Given the description of an element on the screen output the (x, y) to click on. 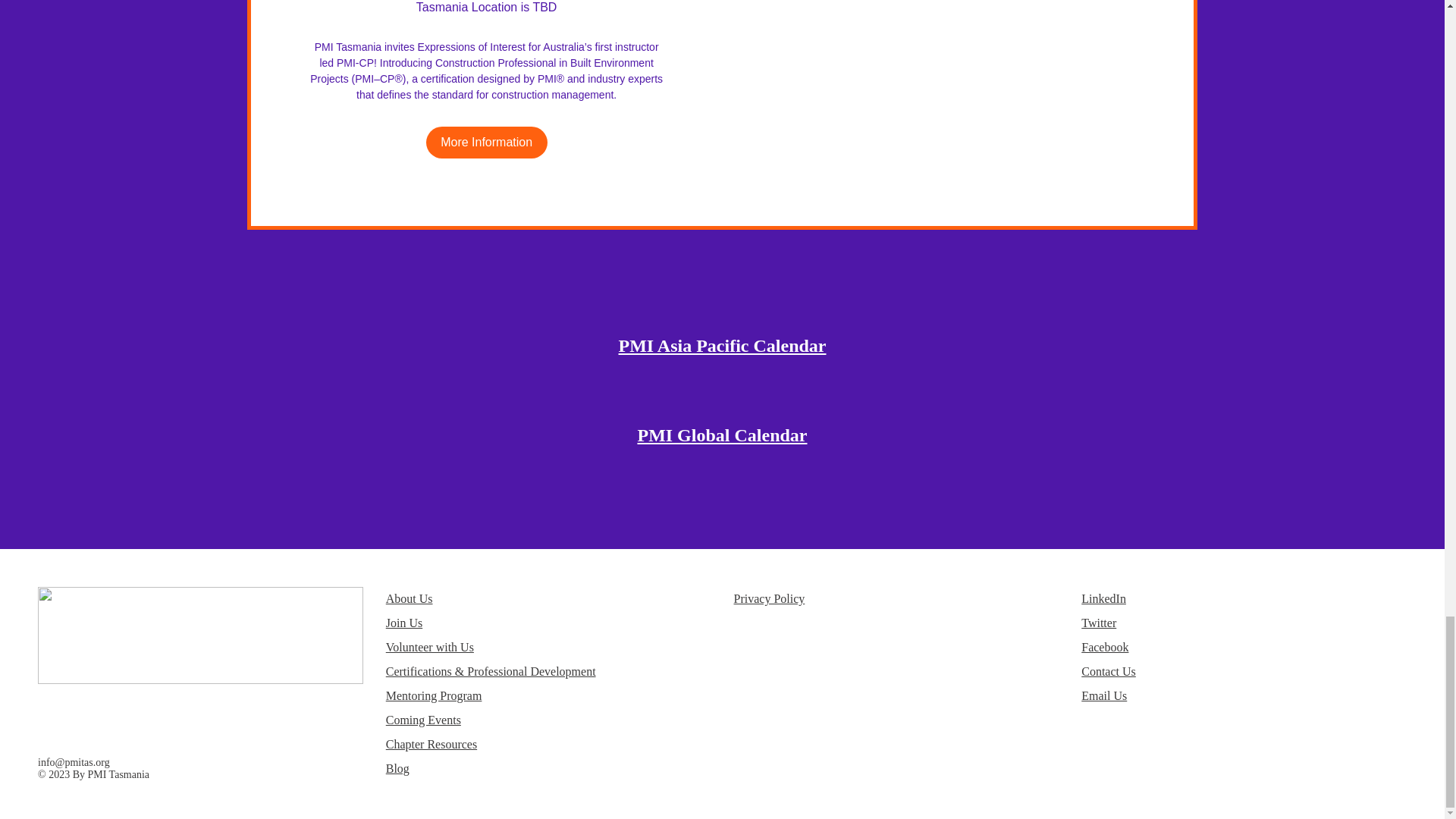
More Information (486, 142)
PMI Asia Pacific Calendar (722, 345)
PMI Global Calendar (721, 435)
